Given the description of an element on the screen output the (x, y) to click on. 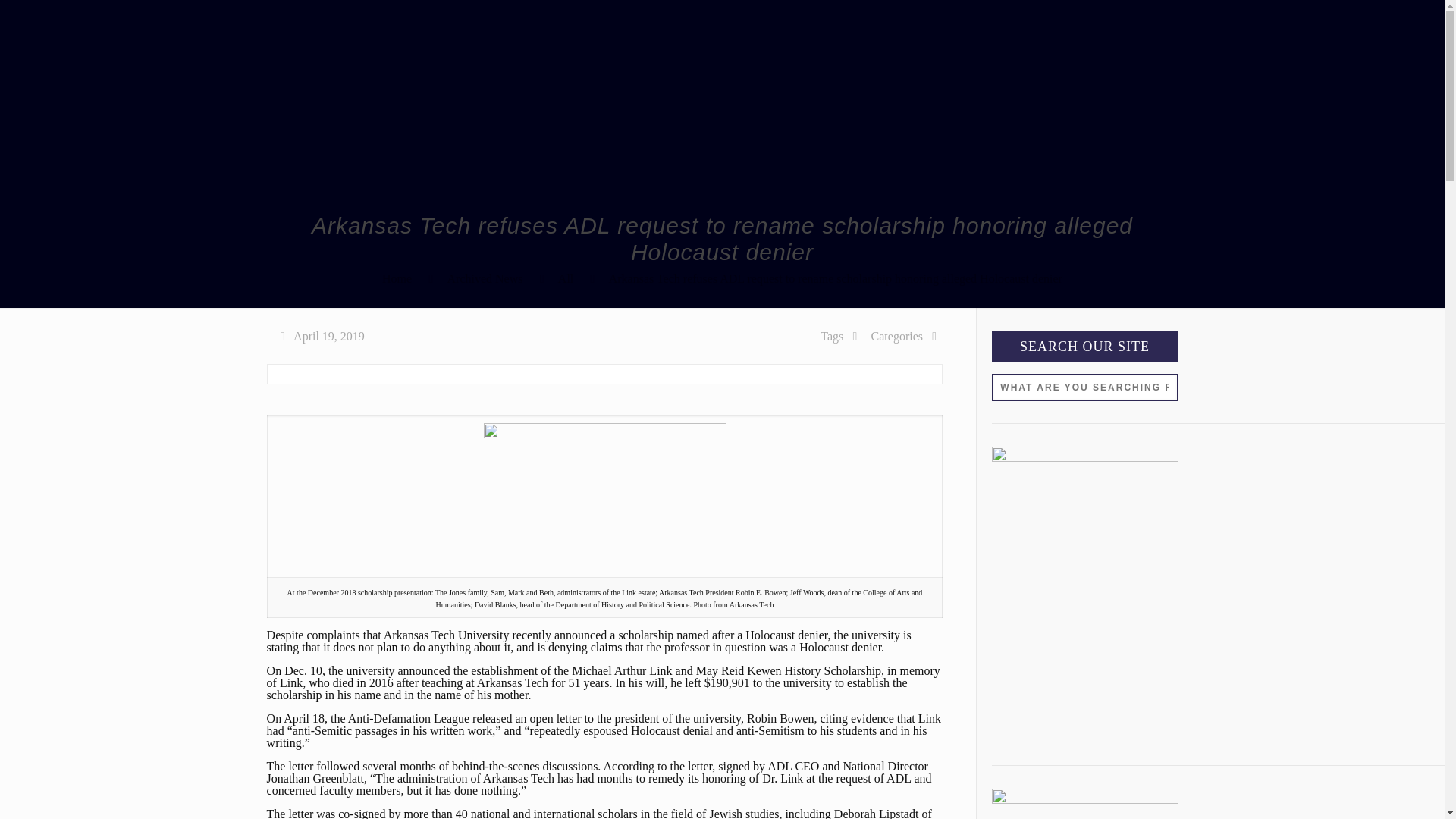
All (565, 278)
Archived News (484, 278)
Home (396, 278)
